Given the description of an element on the screen output the (x, y) to click on. 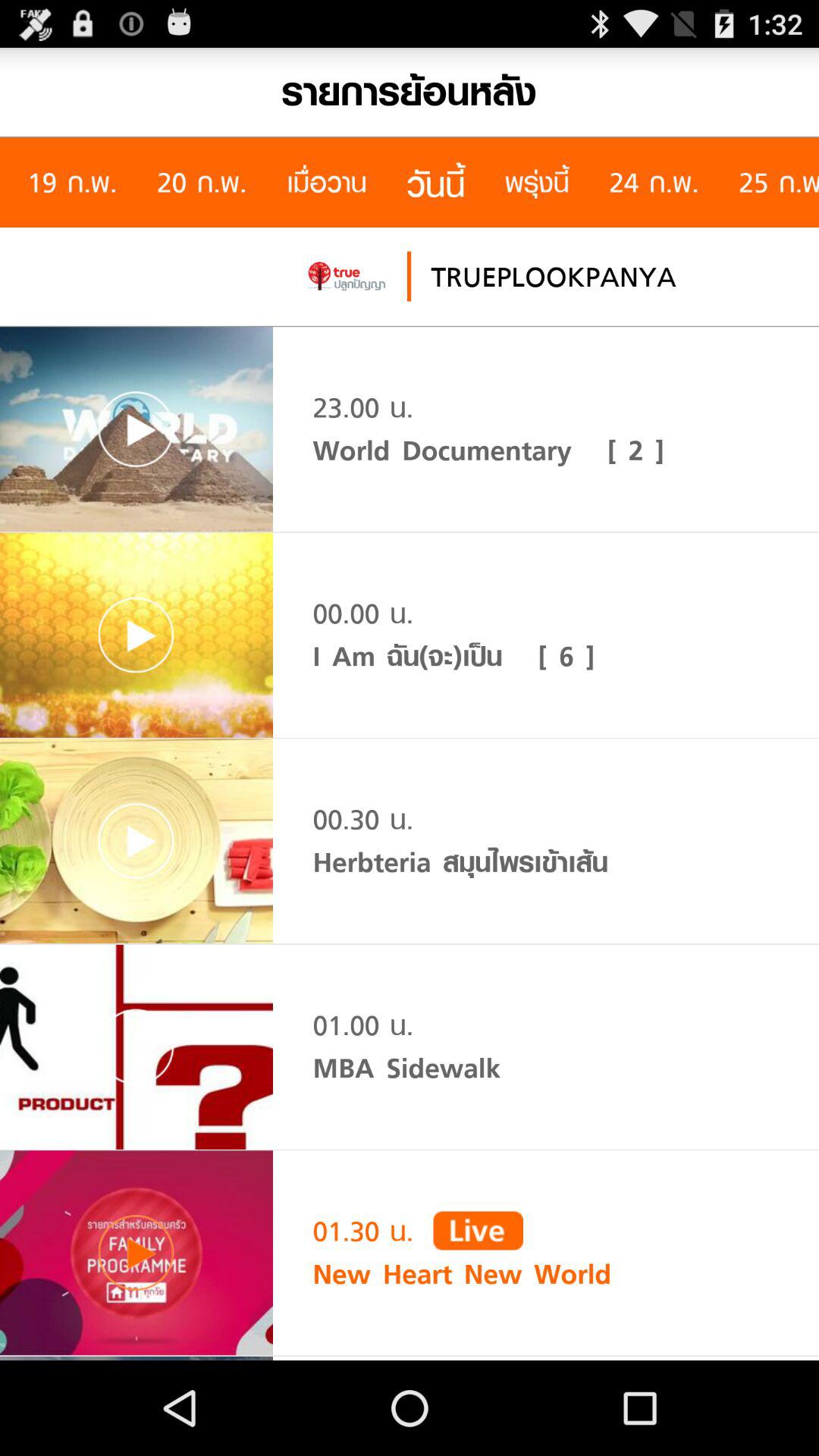
tap mba sidewalk icon (406, 1068)
